Given the description of an element on the screen output the (x, y) to click on. 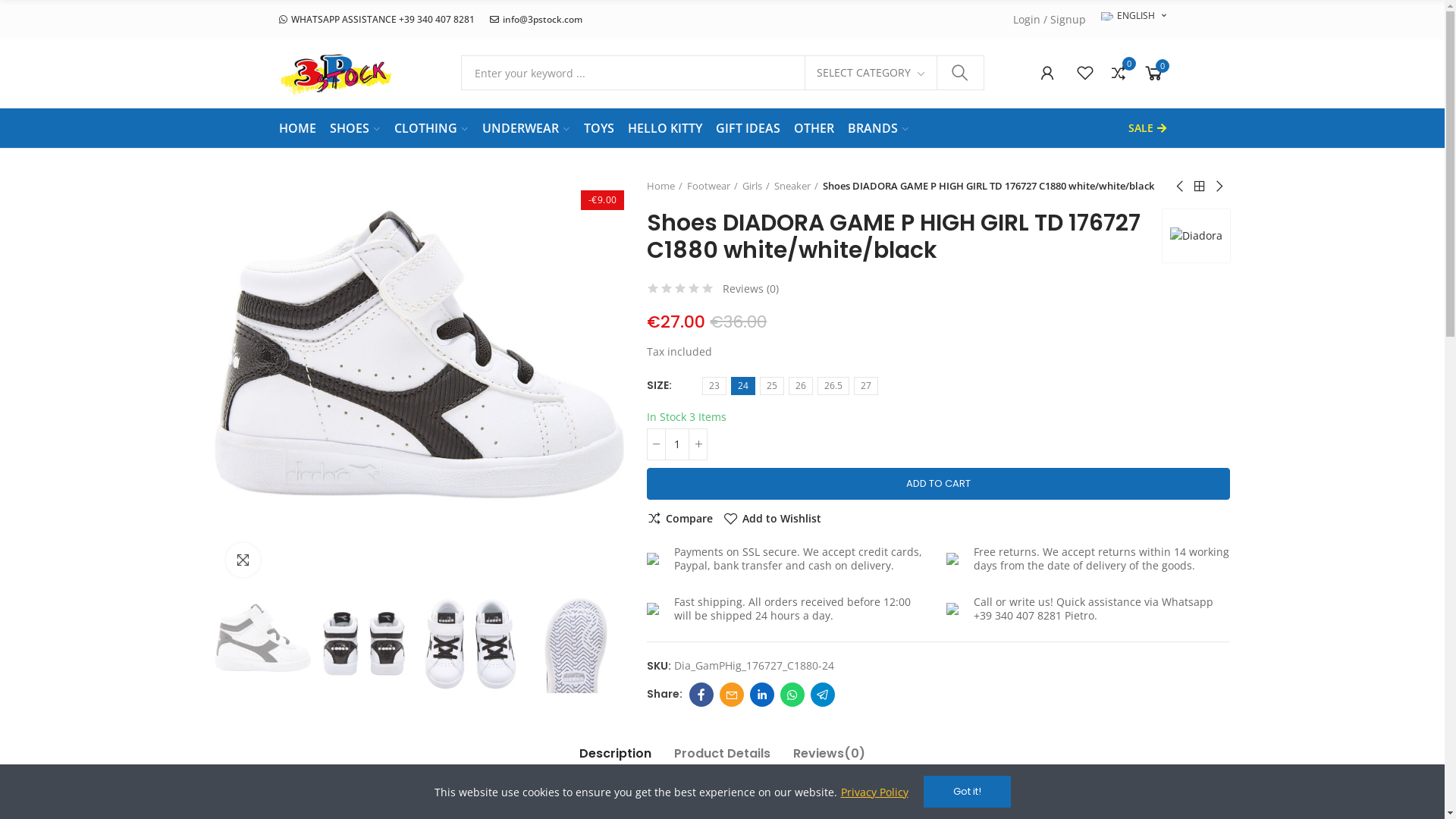
Email Element type: text (731, 694)
Got it! Element type: text (966, 791)
Add to Wishlist Element type: text (772, 518)
Whatsapp Element type: text (792, 694)
HOME Element type: text (297, 128)
SELECT CATEGORY Element type: text (870, 72)
ADD TO CART Element type: text (938, 483)
OTHER Element type: text (813, 128)
My Account Element type: hover (1047, 72)
SALE Element type: text (1147, 127)
Previous product Element type: text (1180, 186)
info@3pstock.com Element type: text (535, 19)
Privacy Policy Element type: text (873, 791)
WHATSAPP ASSISTANCE +39 340 407 8281 Element type: text (376, 19)
Compare Element type: text (679, 518)
GIFT IDEAS Element type: text (747, 128)
Diadora Element type: hover (1196, 235)
Sneaker Element type: text (796, 186)
Login / Signup Element type: text (1049, 19)
0 Element type: text (1118, 72)
Footwear Element type: text (712, 186)
Linkedin Element type: text (761, 694)
BRANDS Element type: text (878, 127)
TOYS Element type: text (598, 128)
CLOTHING Element type: text (431, 127)
0 Element type: text (1085, 72)
Description Element type: text (615, 757)
Reviews (0) Element type: text (750, 288)
Next product Element type: text (1218, 186)
Search Element type: text (959, 72)
Facebook Element type: text (701, 694)
Product Details Element type: text (722, 757)
HELLO KITTY Element type: text (664, 128)
Telegram Element type: text (822, 694)
Home Element type: text (664, 186)
UNDERWEAR Element type: text (526, 127)
0 Element type: text (1153, 72)
Girls Element type: text (755, 186)
SHOES Element type: text (354, 127)
Back to home Element type: text (1199, 186)
Reviews(0) Element type: text (829, 757)
